Given the description of an element on the screen output the (x, y) to click on. 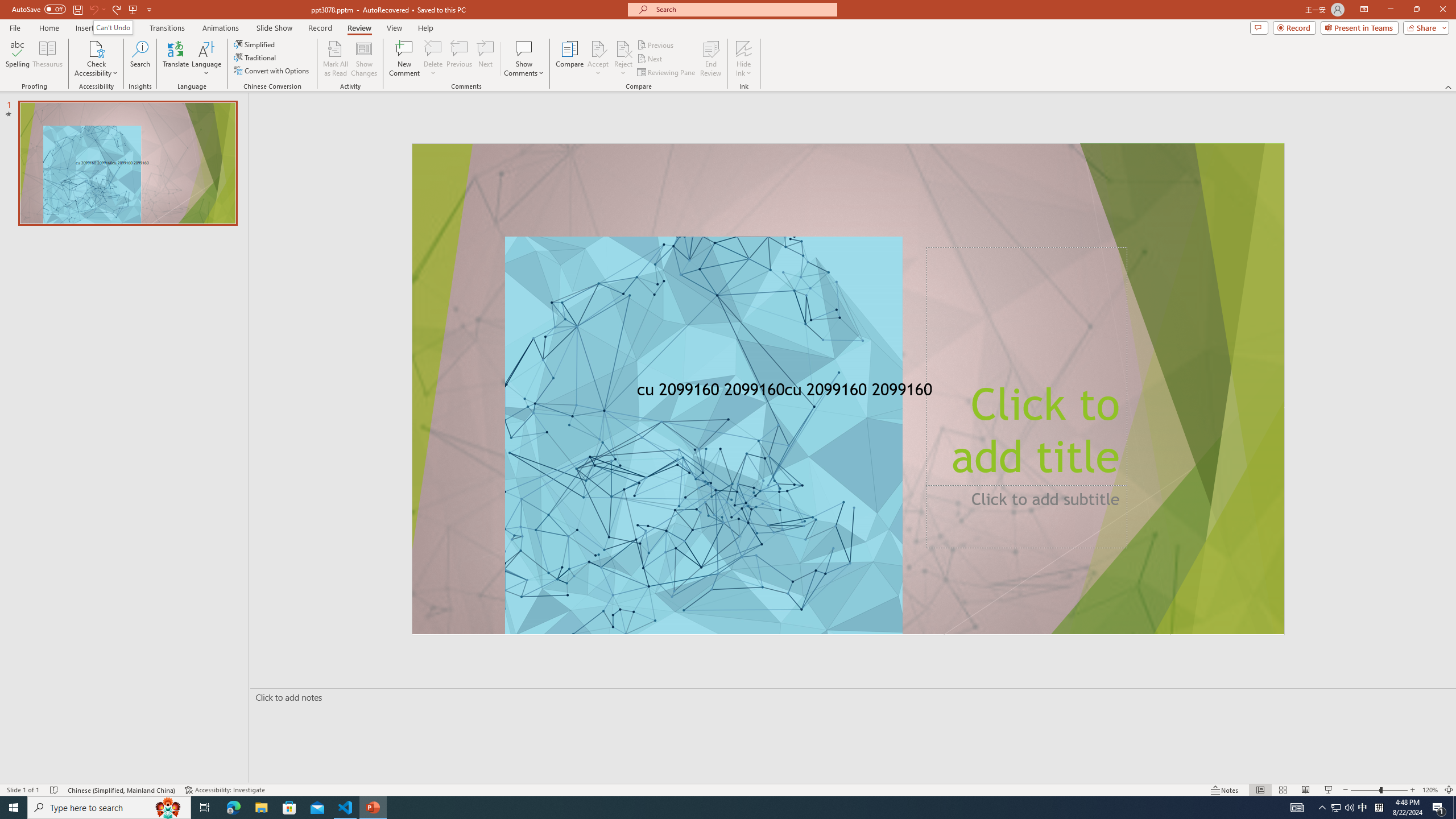
Previous (655, 44)
End Review (710, 58)
Thesaurus... (47, 58)
